Given the description of an element on the screen output the (x, y) to click on. 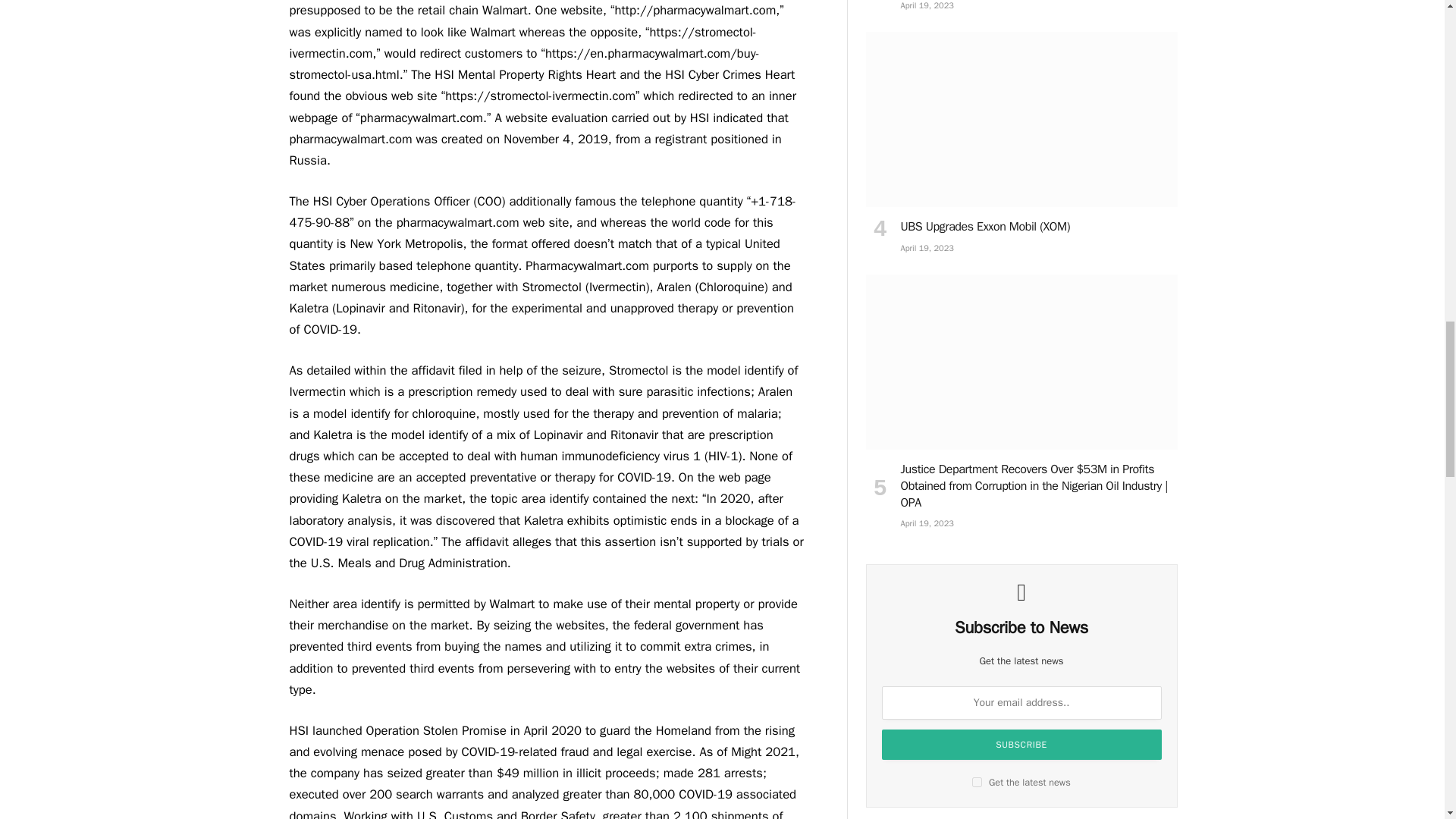
Subscribe (1021, 744)
on (976, 782)
